Given the description of an element on the screen output the (x, y) to click on. 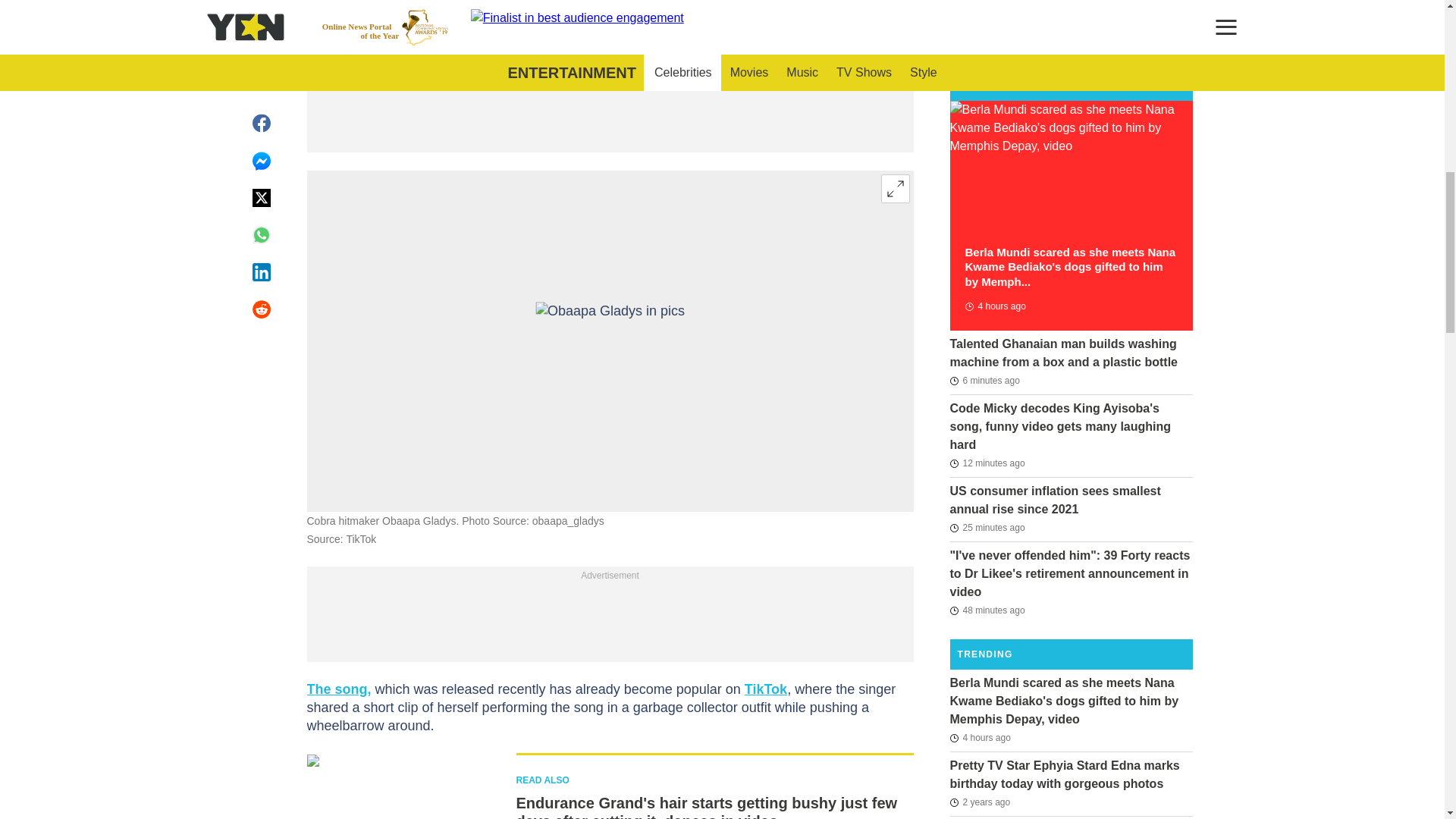
2024-08-14T15:17:46Z (984, 380)
2024-08-14T14:59:04Z (987, 527)
Expand image (895, 188)
2024-08-14T10:36:32Z (994, 306)
2024-08-14T15:12:07Z (987, 463)
2024-08-14T14:35:47Z (987, 610)
Obaapa Gladys in pics (609, 341)
2022-04-06T15:44:09Z (979, 802)
2024-08-14T10:36:32Z (979, 737)
